Given the description of an element on the screen output the (x, y) to click on. 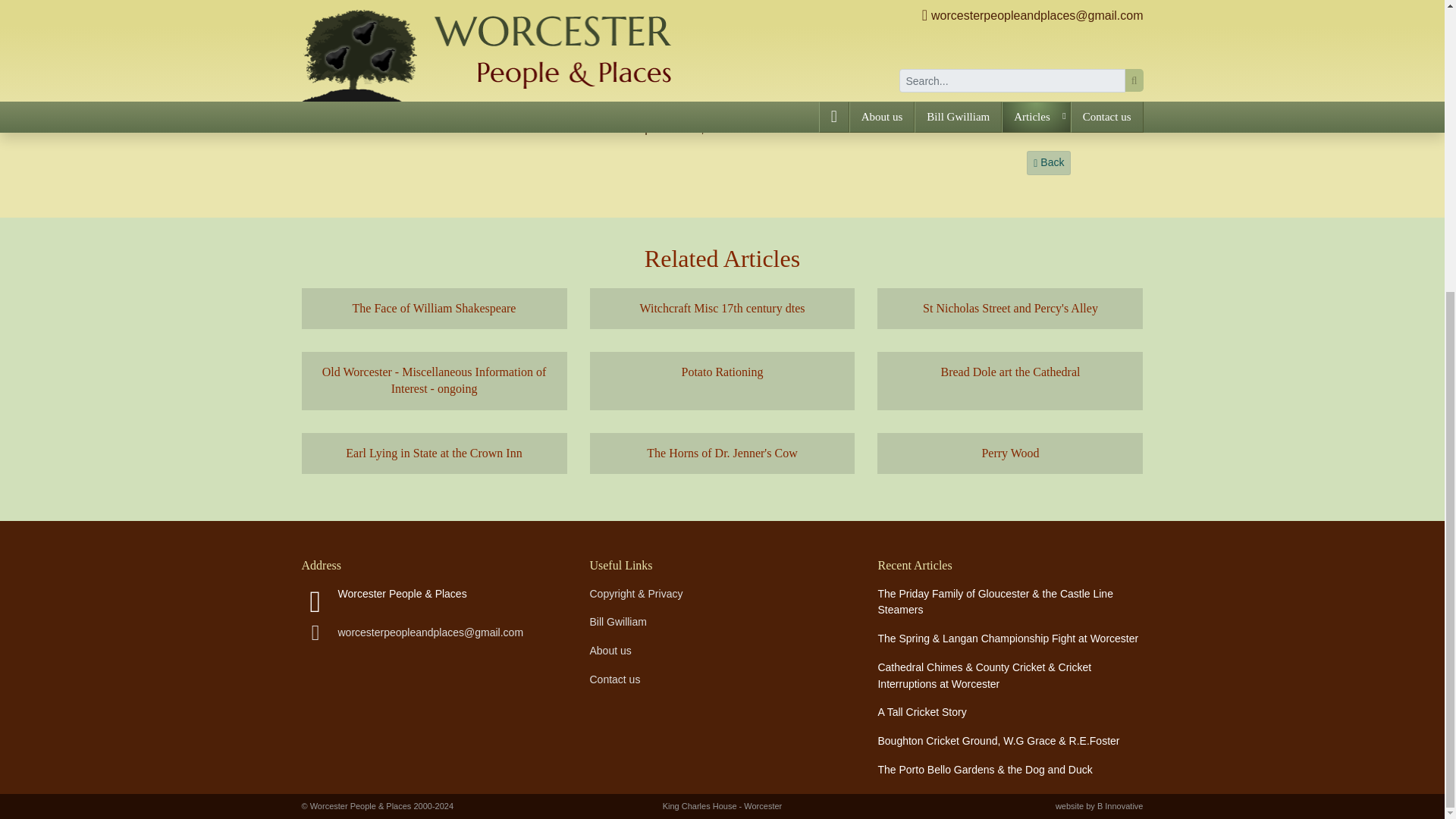
A Tall Cricket Story (921, 711)
